Given the description of an element on the screen output the (x, y) to click on. 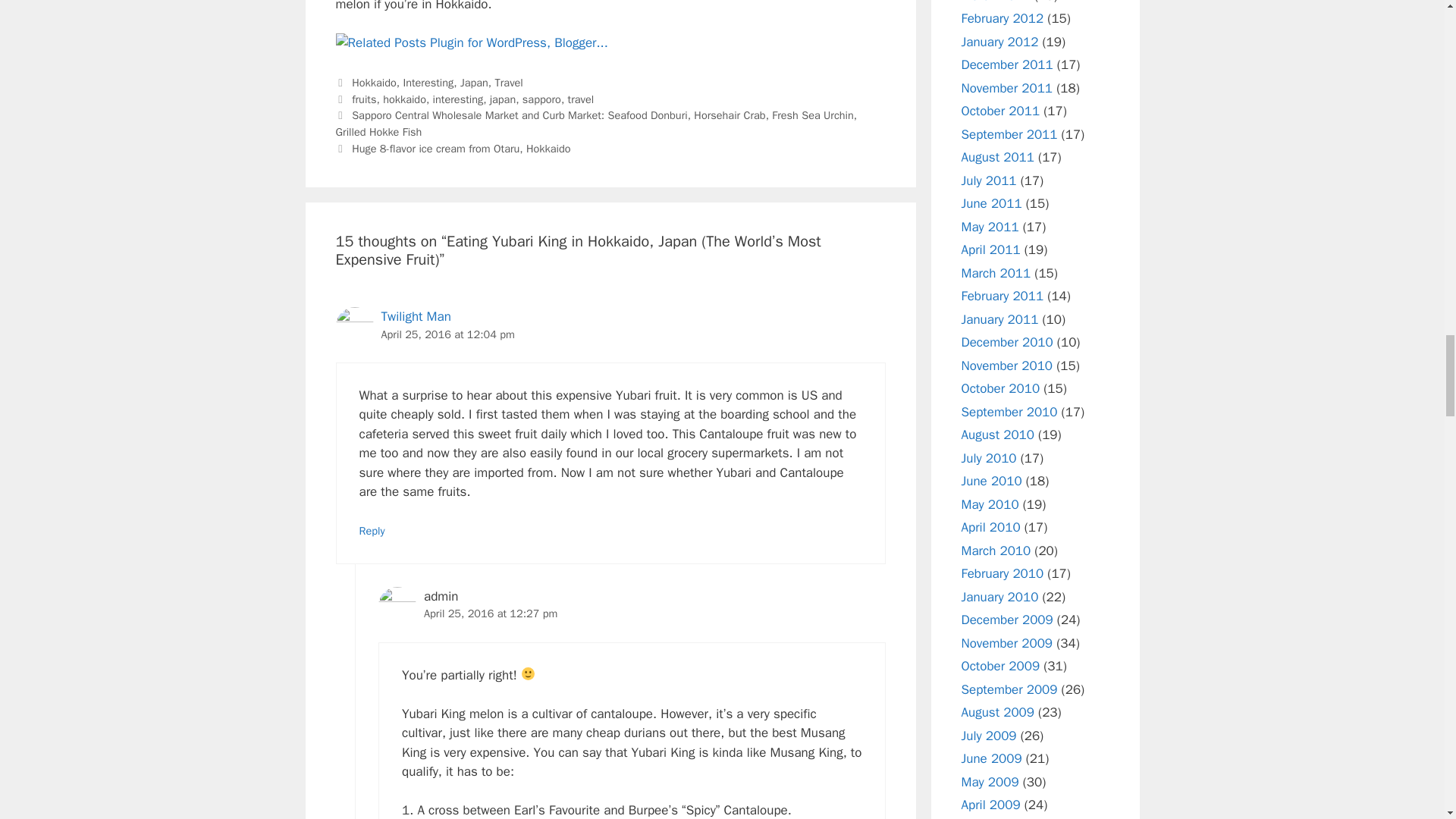
Interesting (427, 82)
Next (452, 148)
Hokkaido (374, 82)
interesting (457, 99)
Reply (372, 530)
sapporo (541, 99)
Previous (595, 123)
fruits (363, 99)
Twilight Man (414, 316)
travel (580, 99)
April 25, 2016 at 12:04 pm (446, 334)
japan (502, 99)
Huge 8-flavor ice cream from Otaru, Hokkaido (461, 148)
Japan (473, 82)
